Given the description of an element on the screen output the (x, y) to click on. 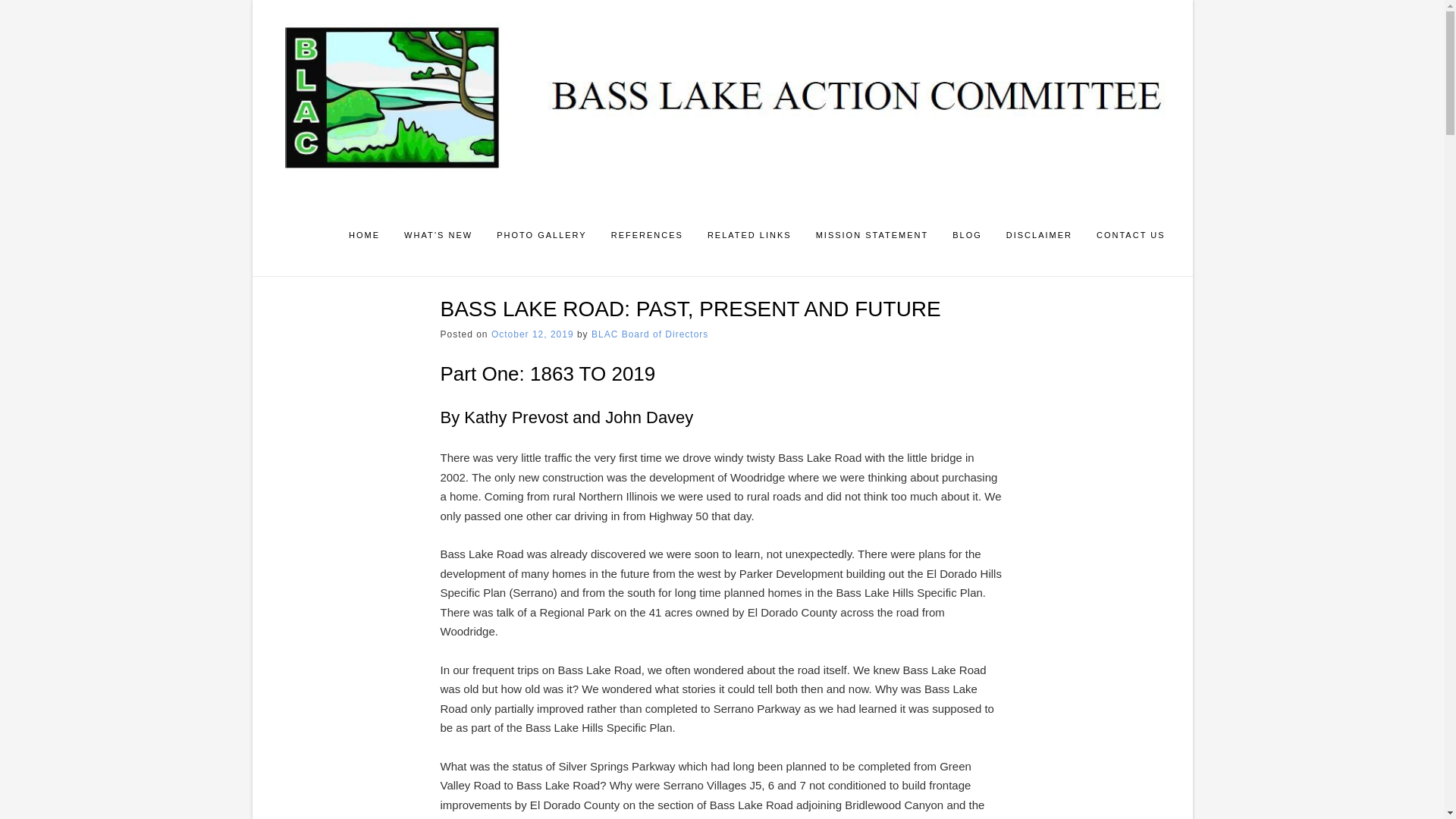
REFERENCES (646, 235)
MISSION STATEMENT (871, 235)
DISCLAIMER (1039, 235)
PHOTO GALLERY (541, 235)
RELATED LINKS (749, 235)
CONTACT US (1130, 235)
October 12, 2019 (532, 334)
BLAC Board of Directors (649, 334)
